Given the description of an element on the screen output the (x, y) to click on. 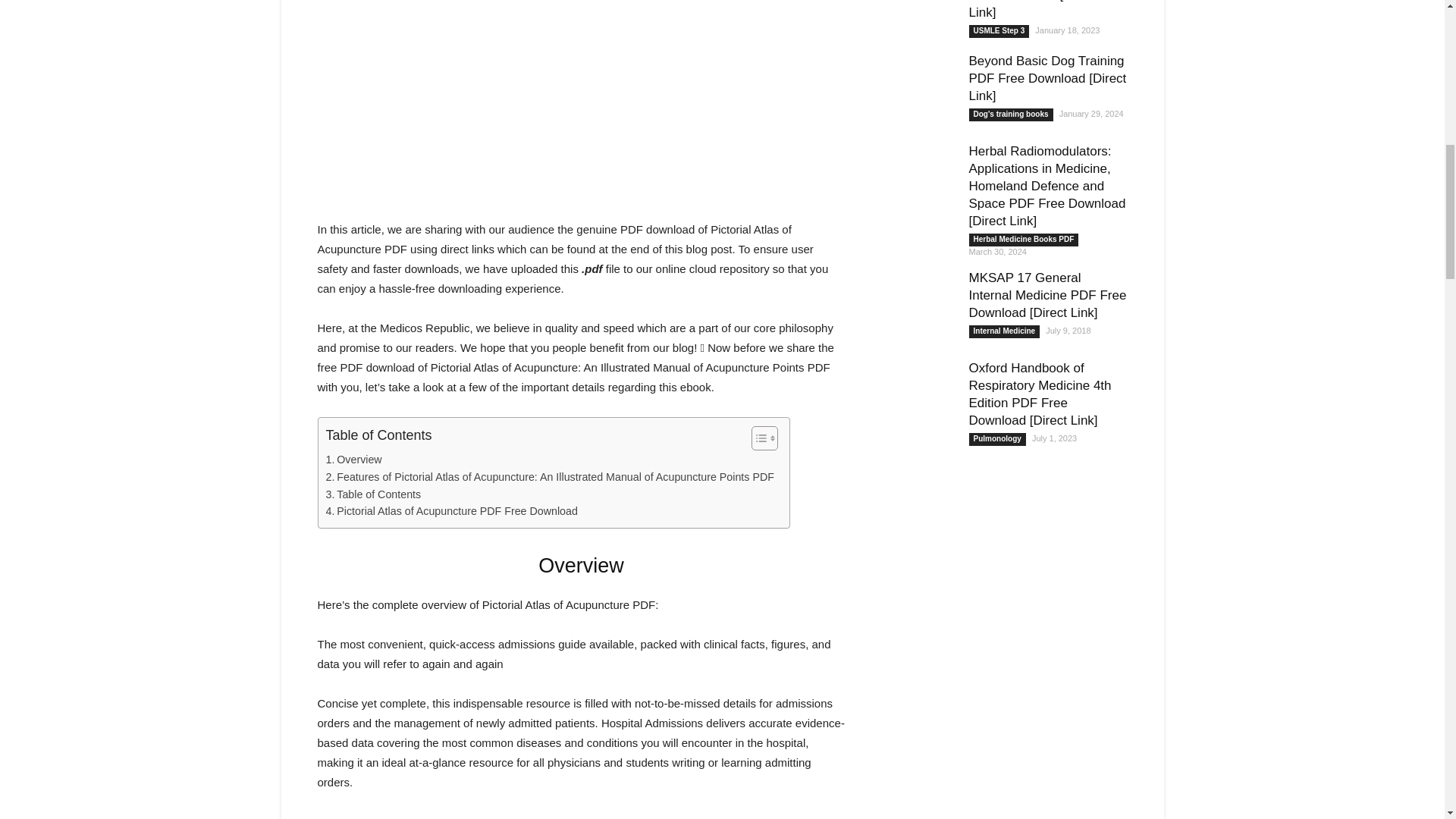
Table of Contents (374, 494)
Overview (353, 459)
Pictorial Atlas of Acupuncture PDF Free Download (452, 511)
